Given the description of an element on the screen output the (x, y) to click on. 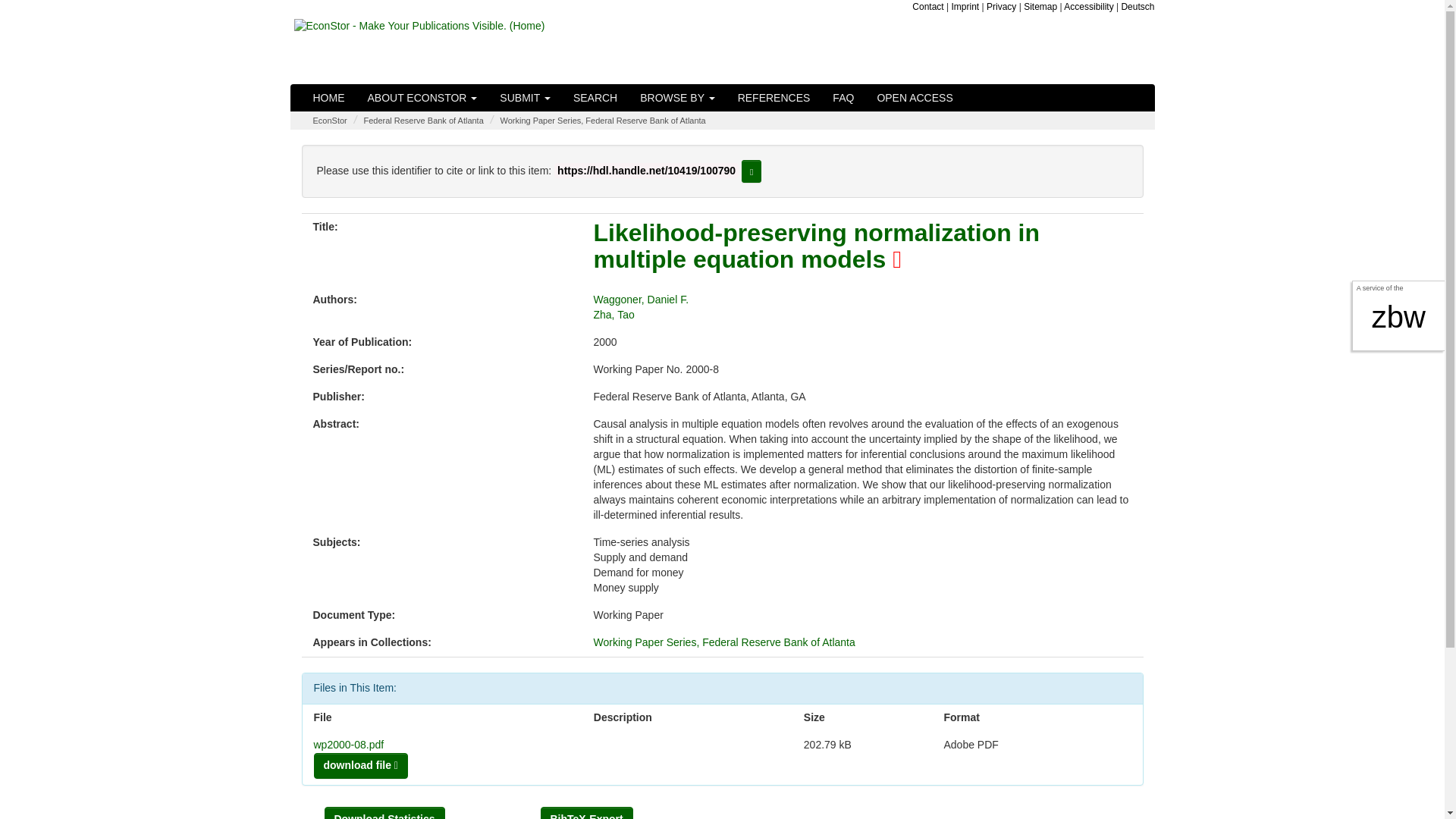
Accessibility (1088, 6)
Deutsch (1137, 6)
EconStor (329, 120)
SUBMIT (524, 97)
Working Paper Series, Federal Reserve Bank of Atlanta (601, 120)
FAQ (842, 97)
Sitemap (1040, 6)
Contact (927, 6)
Federal Reserve Bank of Atlanta (422, 120)
Privacy (1001, 6)
OPEN ACCESS (913, 97)
HOME (328, 97)
ABOUT ECONSTOR (422, 97)
SEARCH (595, 97)
REFERENCES (774, 97)
